Given the description of an element on the screen output the (x, y) to click on. 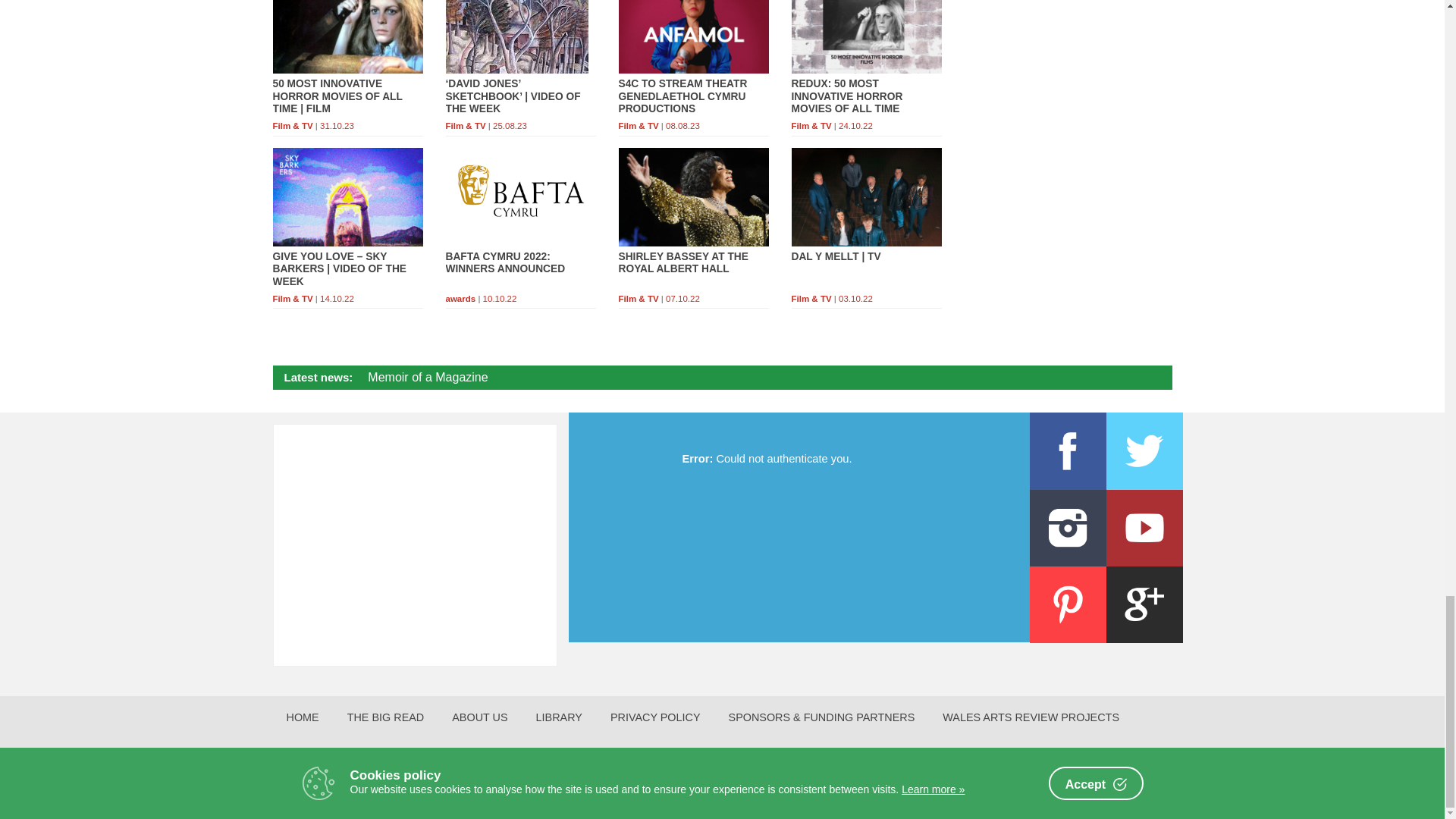
Memoir of a Magazine (427, 377)
